Given the description of an element on the screen output the (x, y) to click on. 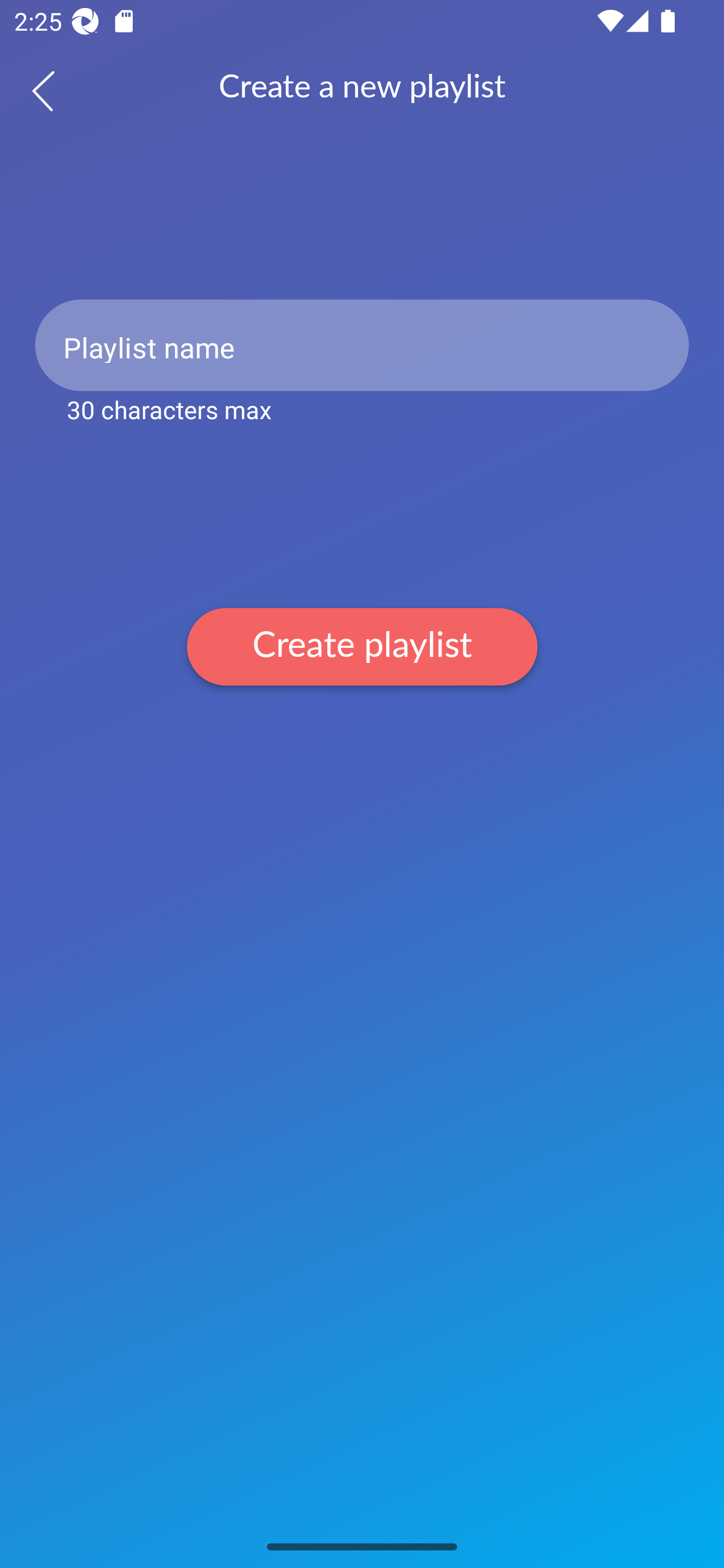
Playlist name (361, 344)
Create playlist (362, 646)
